Given the description of an element on the screen output the (x, y) to click on. 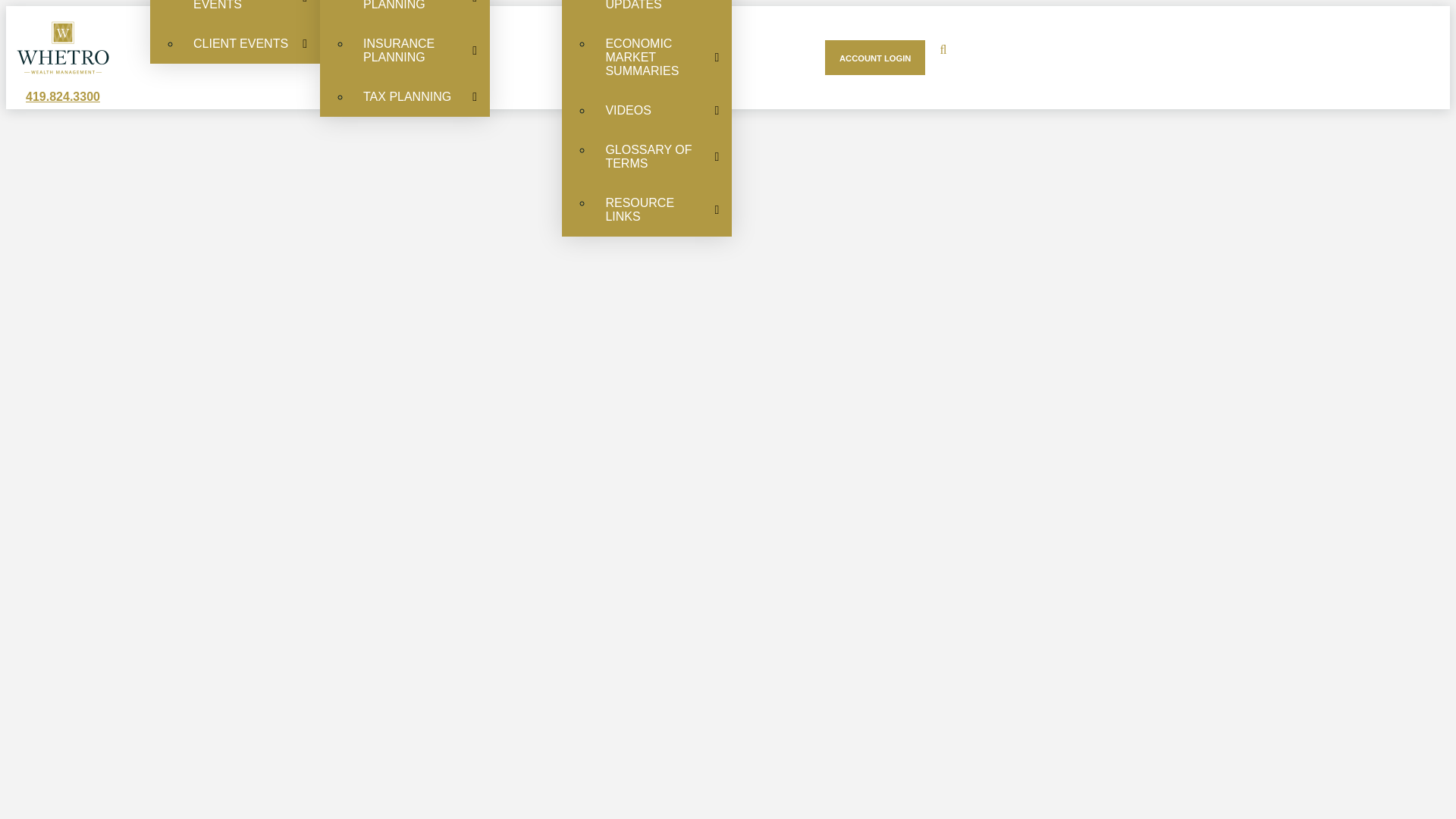
RESOURCE LINKS (662, 209)
TAX PLANNING (419, 96)
419.824.3300 (63, 96)
ACCOUNT LOGIN (874, 57)
VIDEOS (662, 110)
COMMUNITY EVENTS (250, 12)
GLOSSARY OF TERMS (662, 156)
INSURANCE PLANNING (419, 50)
FINANCIAL PLANNING (419, 12)
MORNING MARKET RADIO UPDATES (662, 12)
